Given the description of an element on the screen output the (x, y) to click on. 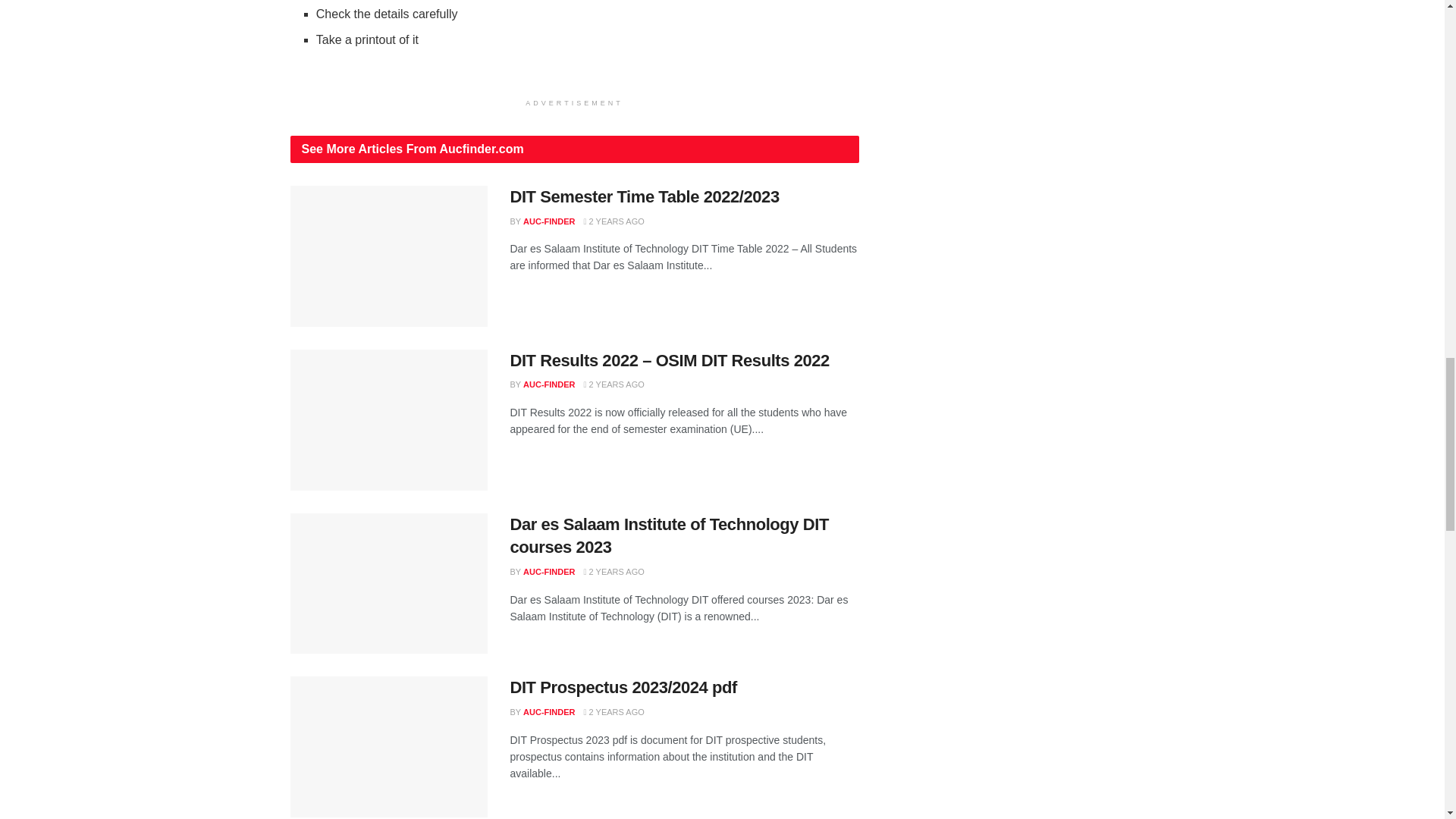
AUC-FINDER (548, 571)
2 YEARS AGO (614, 384)
2 YEARS AGO (614, 221)
AUC-FINDER (548, 221)
AUC-FINDER (548, 384)
Dar es Salaam Institute of Technology DIT courses 2023 (668, 536)
